Given the description of an element on the screen output the (x, y) to click on. 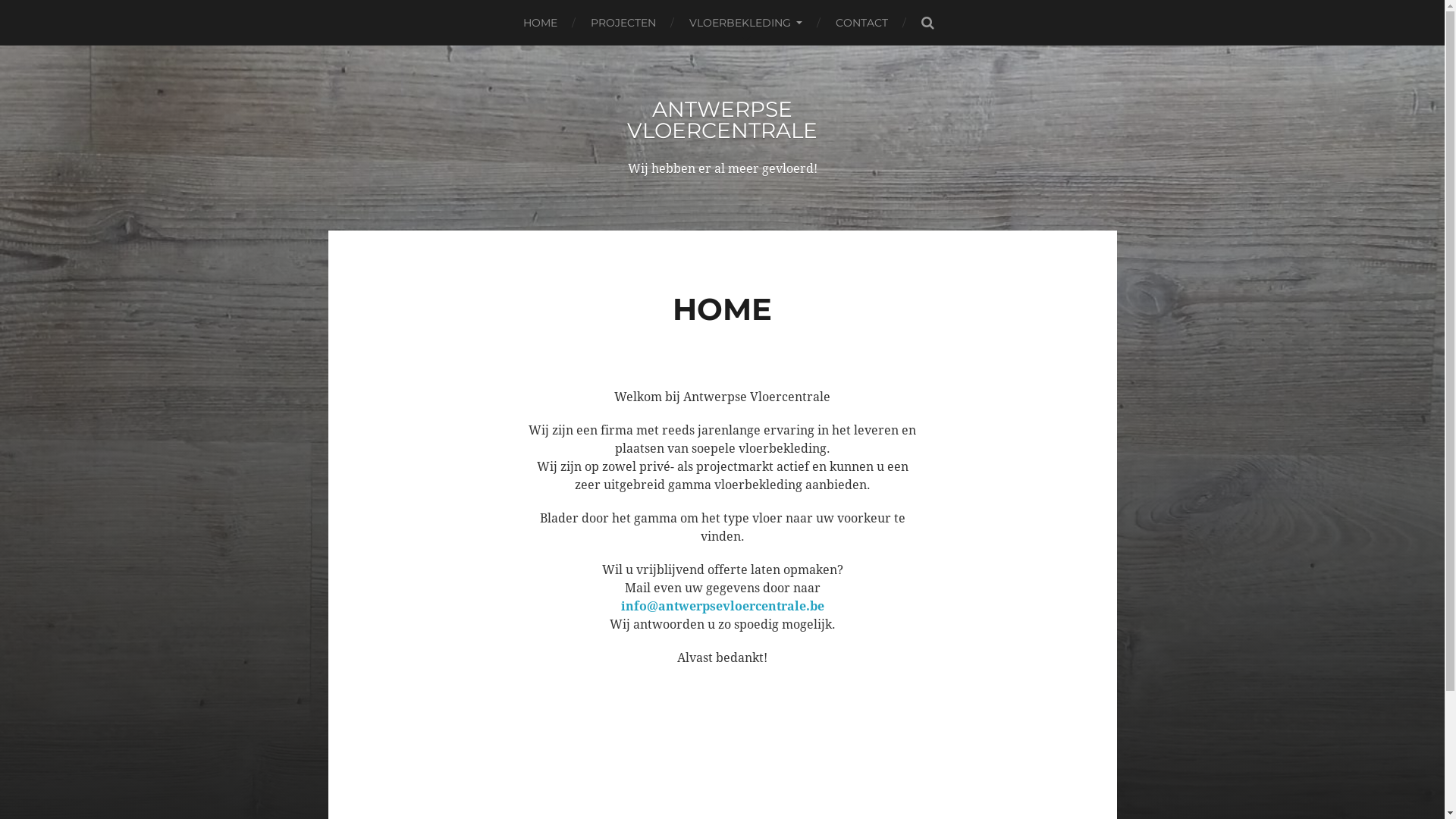
CONTACT Element type: text (861, 22)
HOME Element type: text (540, 22)
PROJECTEN Element type: text (622, 22)
info@antwerpsevloercentrale.be Element type: text (721, 606)
ANTWERPSE VLOERCENTRALE Element type: text (722, 119)
VLOERBEKLEDING Element type: text (745, 22)
